Given the description of an element on the screen output the (x, y) to click on. 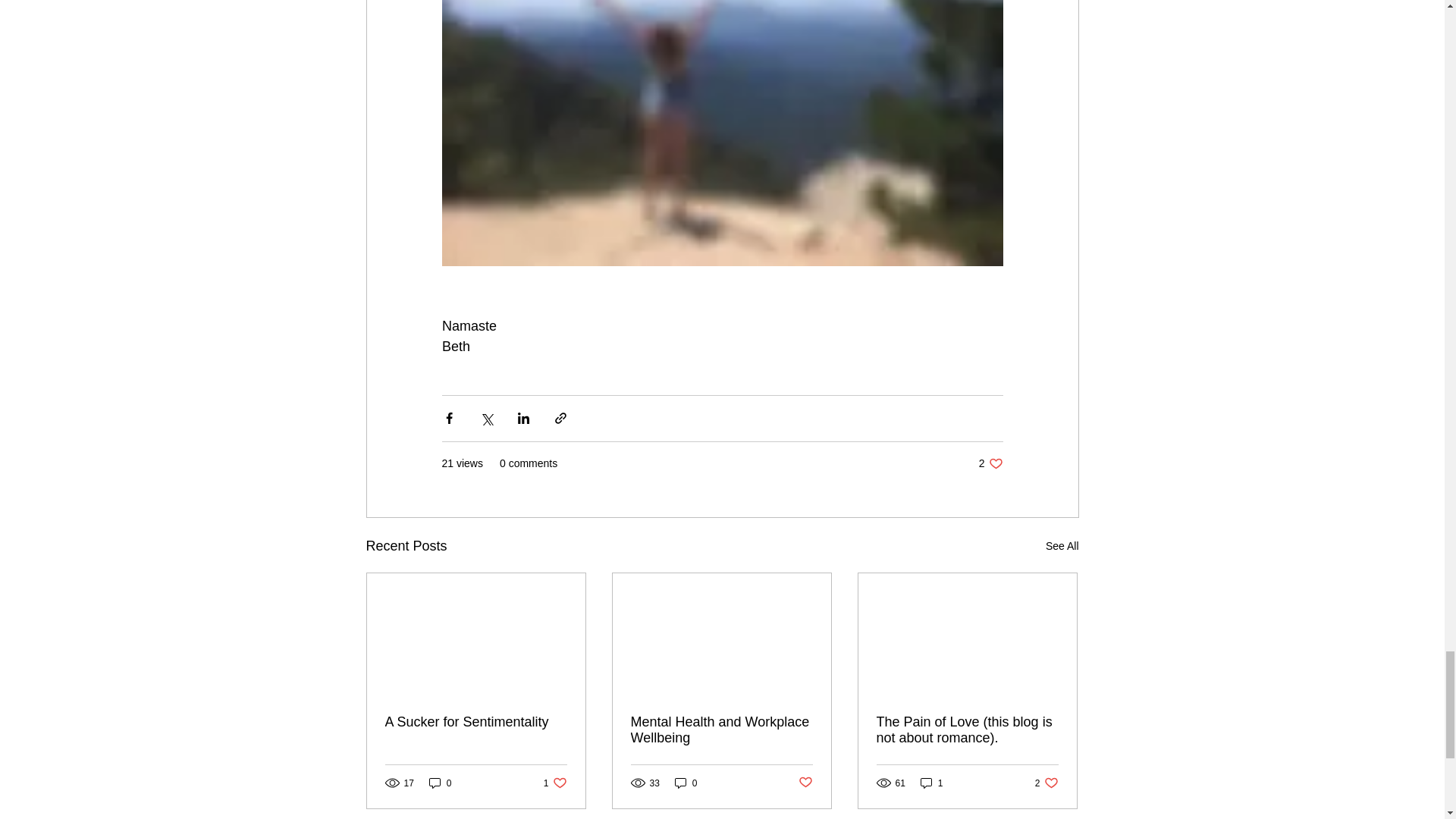
Mental Health and Workplace Wellbeing (721, 730)
1 (931, 782)
See All (1061, 546)
0 (440, 782)
A Sucker for Sentimentality (1046, 782)
0 (476, 722)
Post not marked as liked (990, 463)
